Given the description of an element on the screen output the (x, y) to click on. 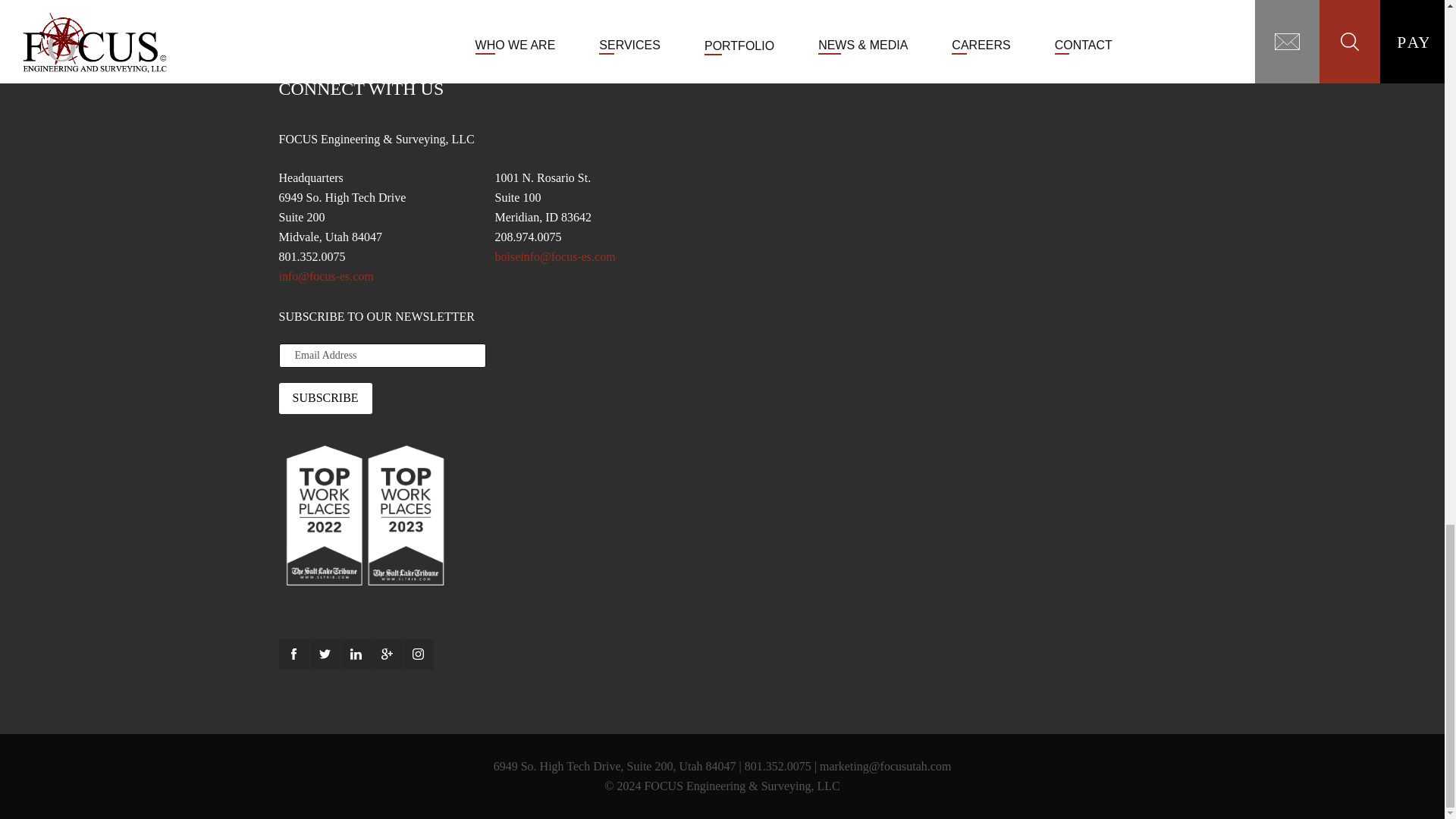
LinkedIn (355, 654)
Google Plus (386, 654)
Twitter (323, 654)
Instagram (418, 654)
Facebook (293, 654)
Subscribe (325, 398)
